Given the description of an element on the screen output the (x, y) to click on. 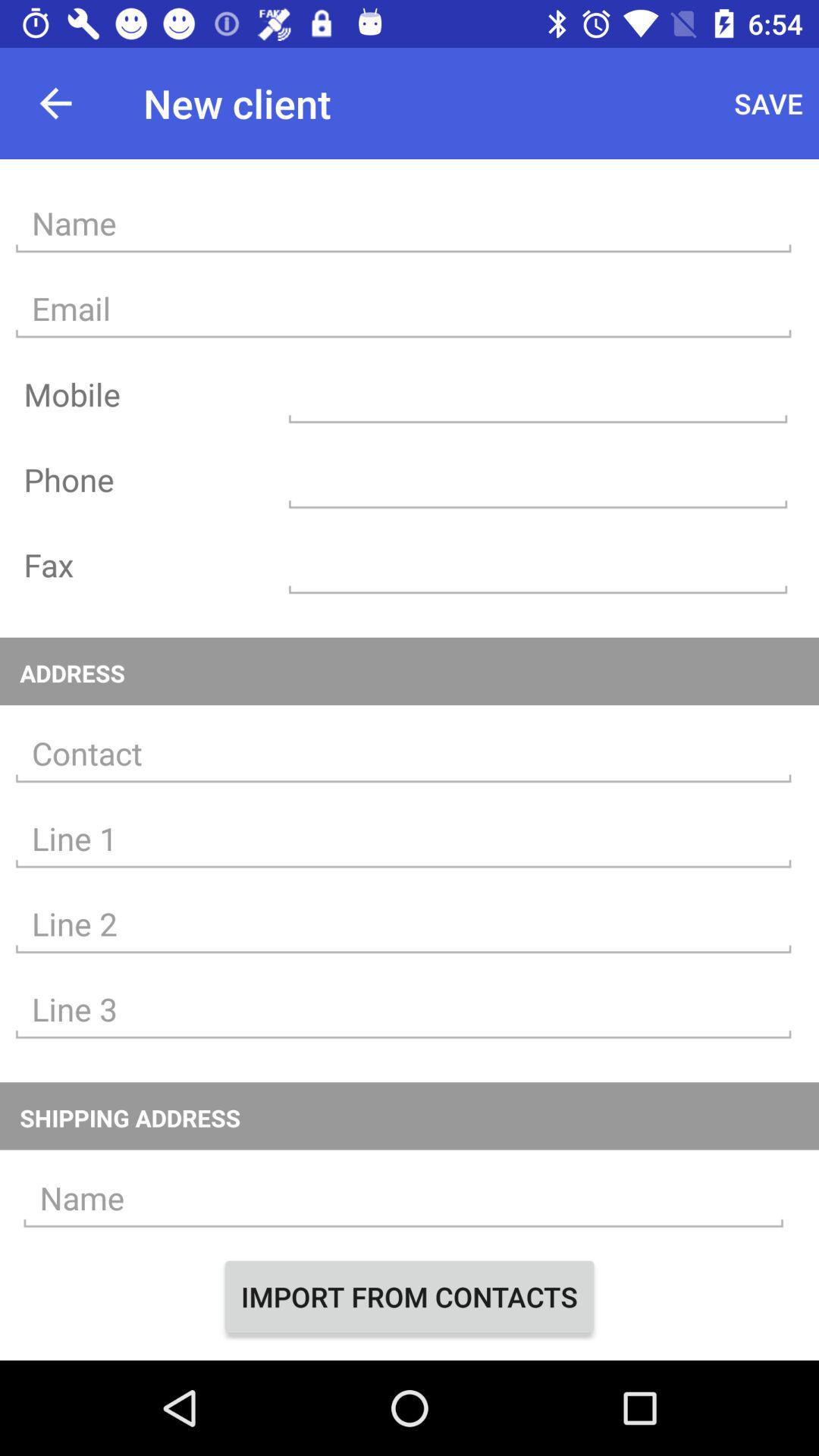
enter phone number (537, 479)
